Given the description of an element on the screen output the (x, y) to click on. 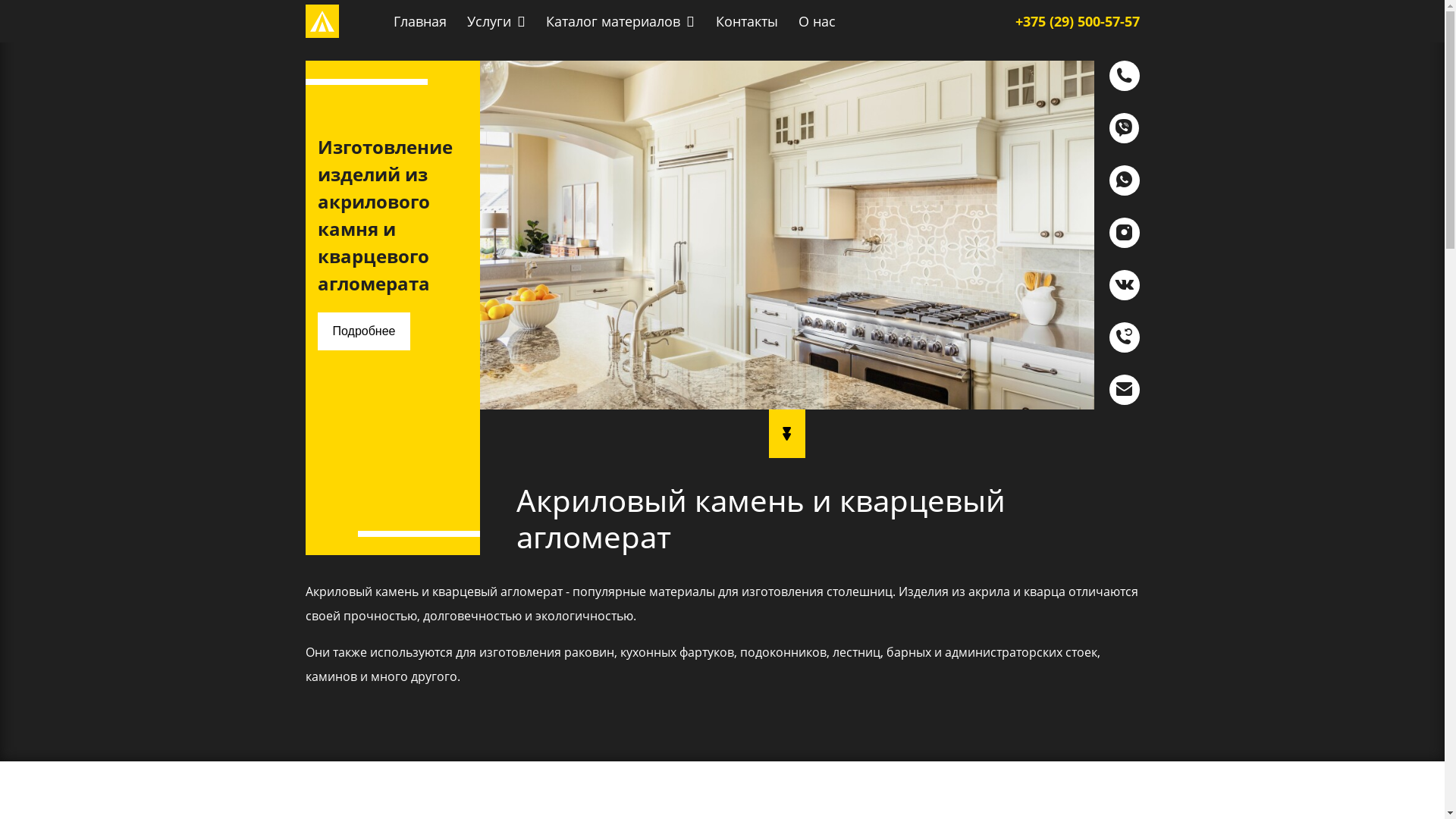
+375 (29) 500-57-57 Element type: text (1076, 21)
